Given the description of an element on the screen output the (x, y) to click on. 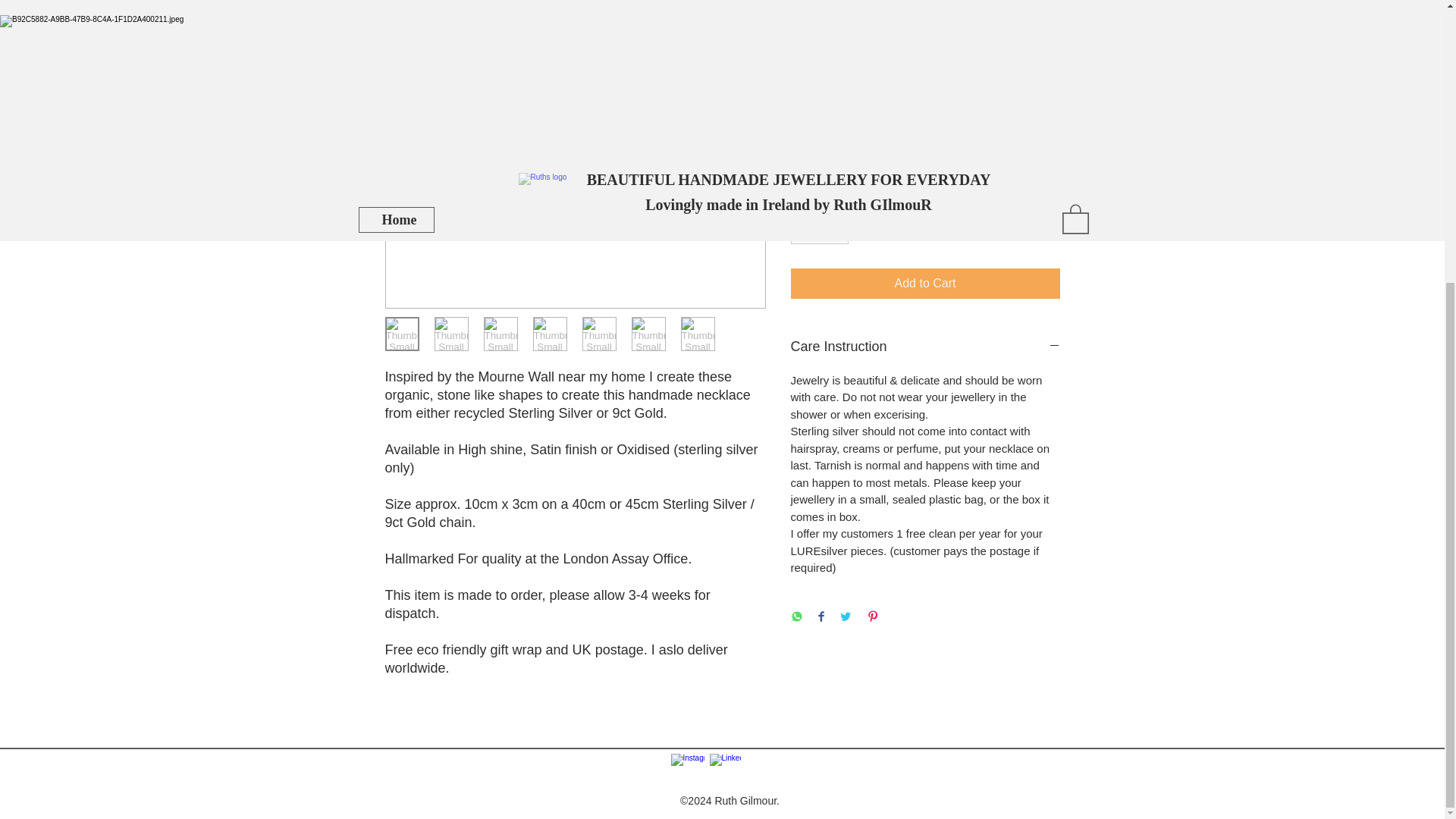
Select (924, 29)
Add to Cart (924, 283)
Select (924, 162)
Select (924, 95)
1 (818, 228)
Care Instruction (924, 346)
